Given the description of an element on the screen output the (x, y) to click on. 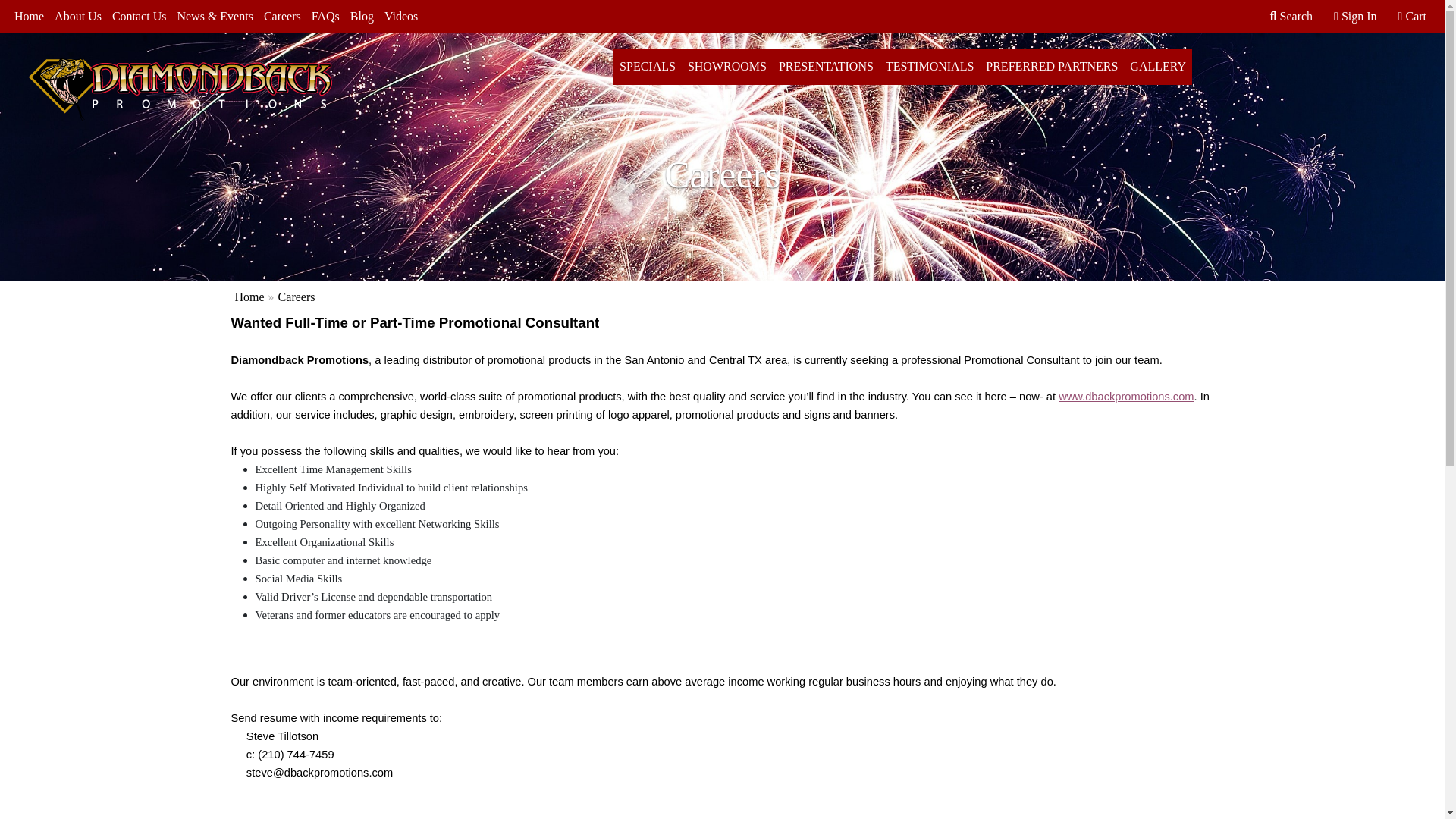
www.dbackpromotions.com (1125, 396)
PREFERRED PARTNERS (1051, 66)
PRESENTATIONS (826, 66)
Home (28, 16)
SHOWROOMS (727, 66)
GALLERY (1158, 66)
FAQs (325, 16)
About Us (77, 16)
Contact Us (138, 16)
Careers (282, 16)
TESTIMONIALS (929, 66)
Cart (1412, 16)
Sign In (1354, 16)
Blog (361, 16)
Home (249, 296)
